Given the description of an element on the screen output the (x, y) to click on. 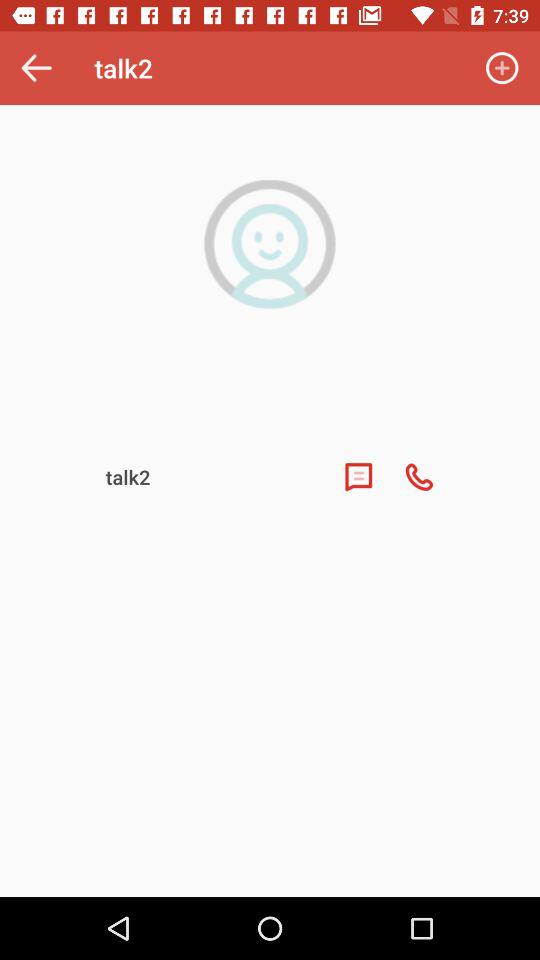
click the icon next to talk2 icon (36, 68)
